Given the description of an element on the screen output the (x, y) to click on. 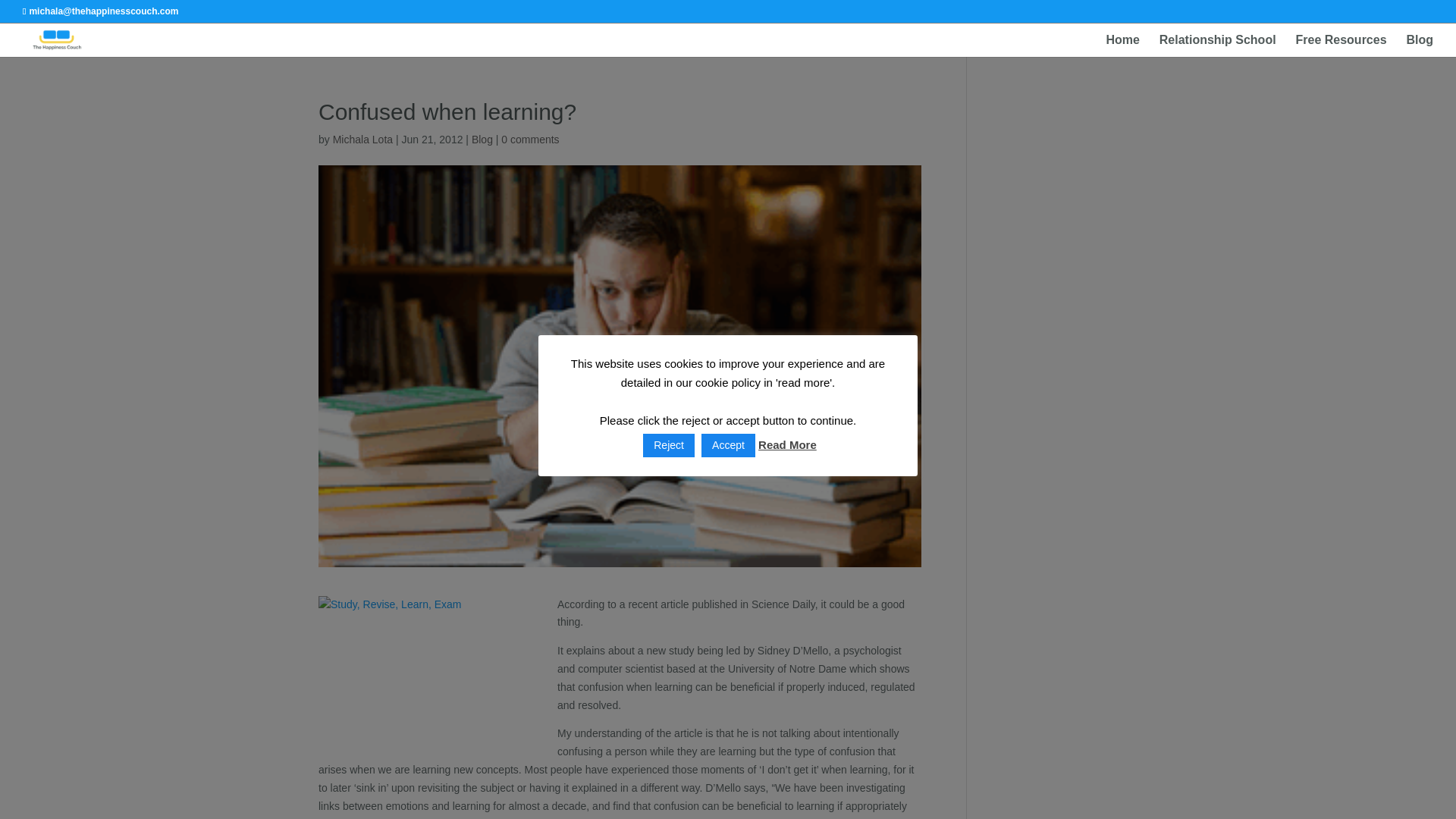
Reject (668, 445)
Free Resources (1340, 45)
Home (1121, 45)
Blog (1419, 45)
Relationship School (1217, 45)
0 comments (529, 139)
How to Study (432, 671)
Read More (787, 444)
Accept (728, 445)
Blog (482, 139)
Michala Lota (363, 139)
Posts by Michala Lota (363, 139)
